Given the description of an element on the screen output the (x, y) to click on. 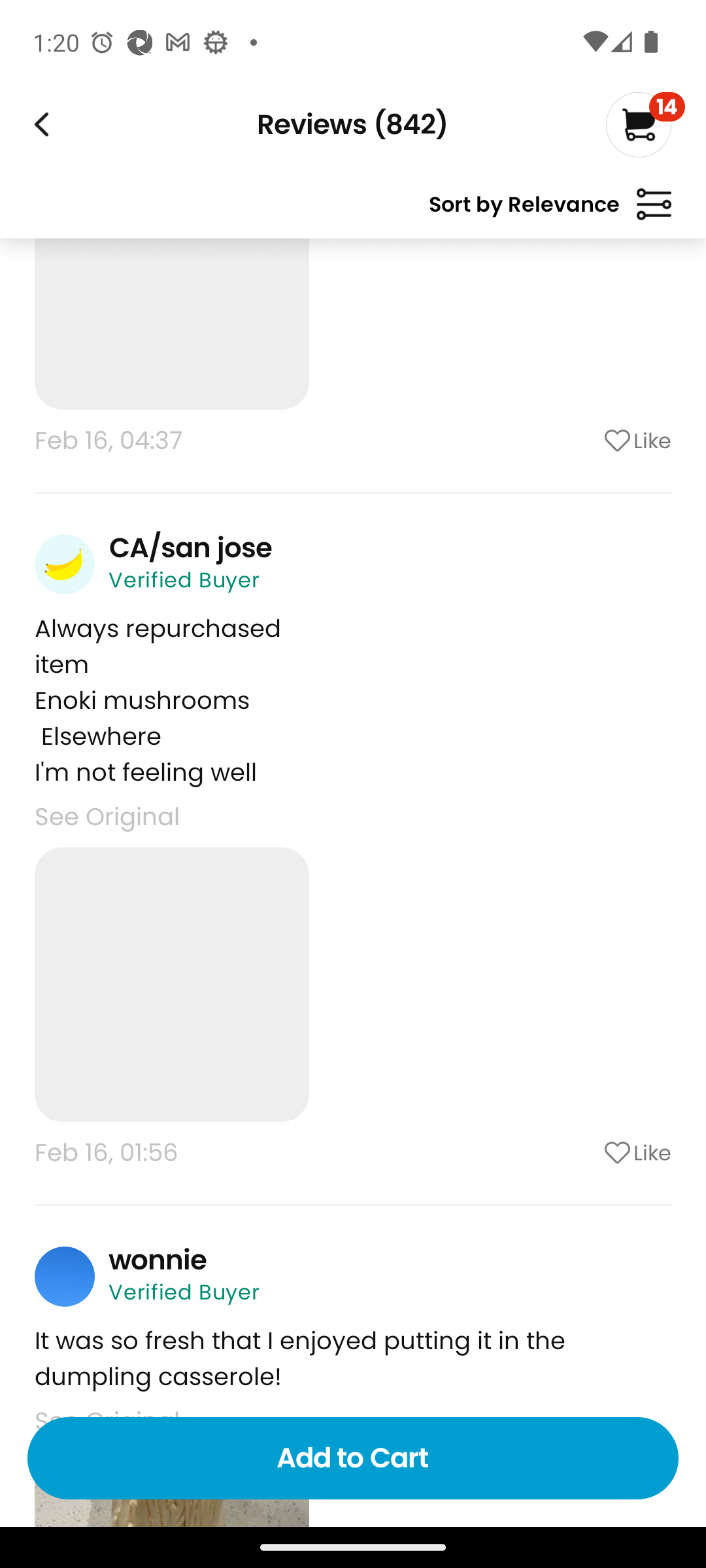
14 (644, 124)
Sort by Relevance (549, 212)
Like (585, 440)
CA/san jose (189, 547)
Verified Buyer (183, 579)
See Original (107, 816)
Like (585, 1152)
wonnie (157, 1259)
Verified Buyer (183, 1291)
Add to Cart (352, 1458)
